Given the description of an element on the screen output the (x, y) to click on. 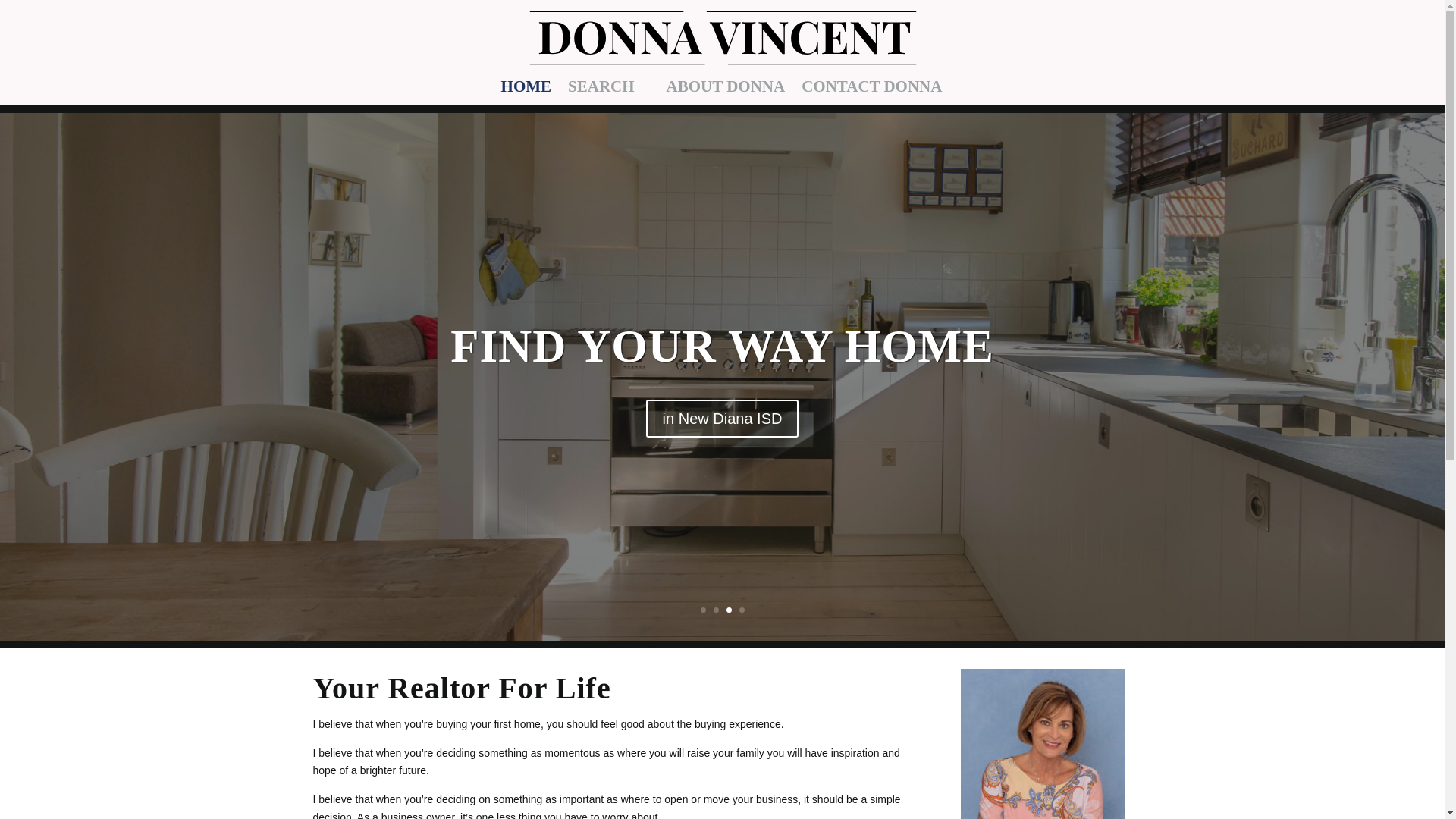
ABOUT DONNA (726, 93)
SEARCH (608, 93)
CONTACT DONNA (872, 93)
HOME (525, 93)
